Given the description of an element on the screen output the (x, y) to click on. 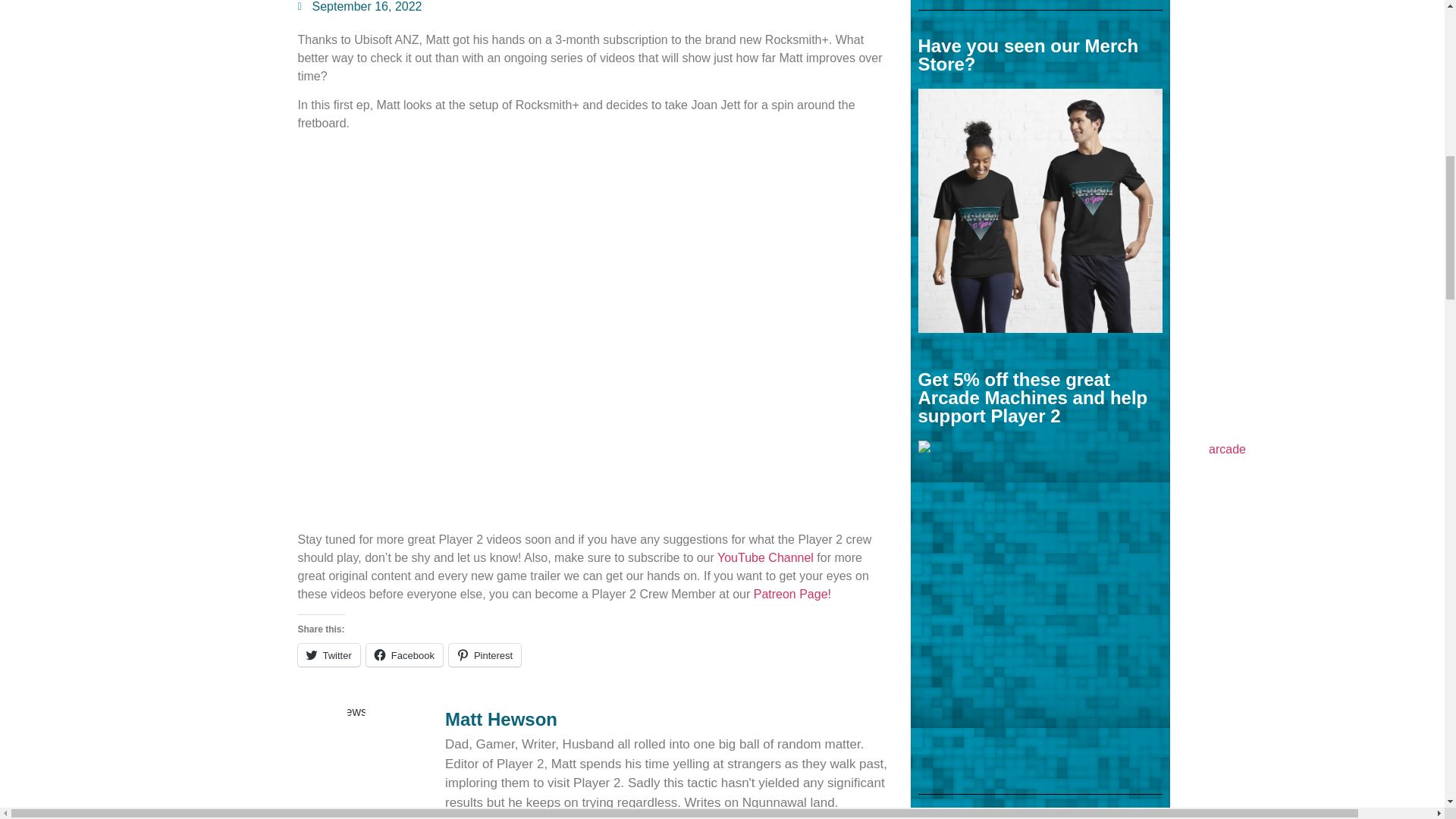
Click to share on Twitter (328, 654)
Click to share on Pinterest (484, 654)
Click to share on Facebook (404, 654)
